Given the description of an element on the screen output the (x, y) to click on. 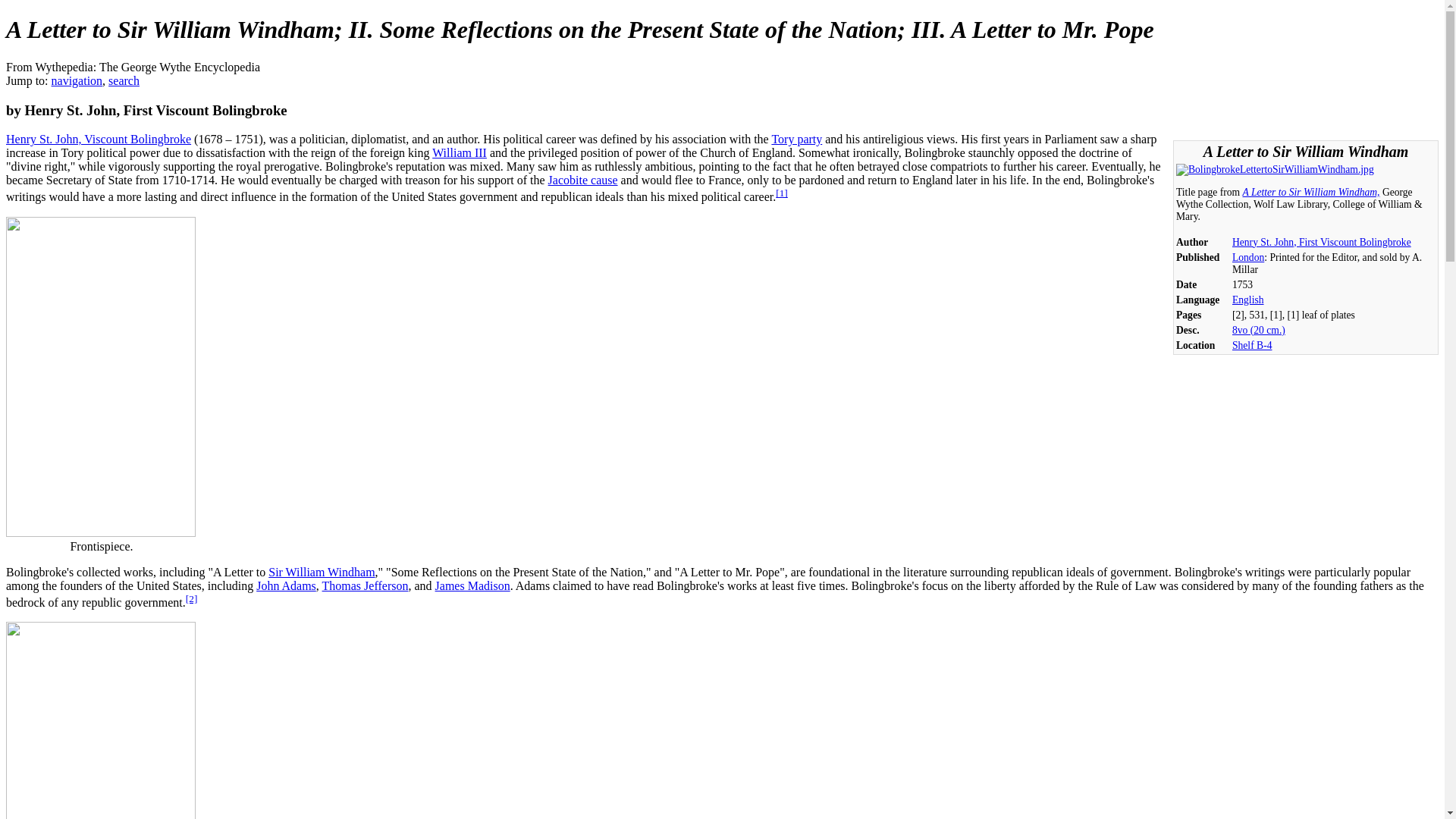
A Letter to Sir William Windham, (1309, 192)
Henry St. John, Viscount Bolingbroke (97, 138)
John Adams (285, 585)
wikipedia:John Adams (285, 585)
wikipedia:Jacobite rebellion of 1715 (582, 179)
wikipedia:William III of England (459, 152)
William III (459, 152)
Shelf B-4 (1251, 345)
Henry St. John, First Viscount Bolingbroke (1320, 242)
Jacobite cause (582, 179)
wikipedia:James Madison (473, 585)
English (1247, 299)
Shelf B-4 (1251, 345)
Tory party (796, 138)
Category:English (1247, 299)
